Given the description of an element on the screen output the (x, y) to click on. 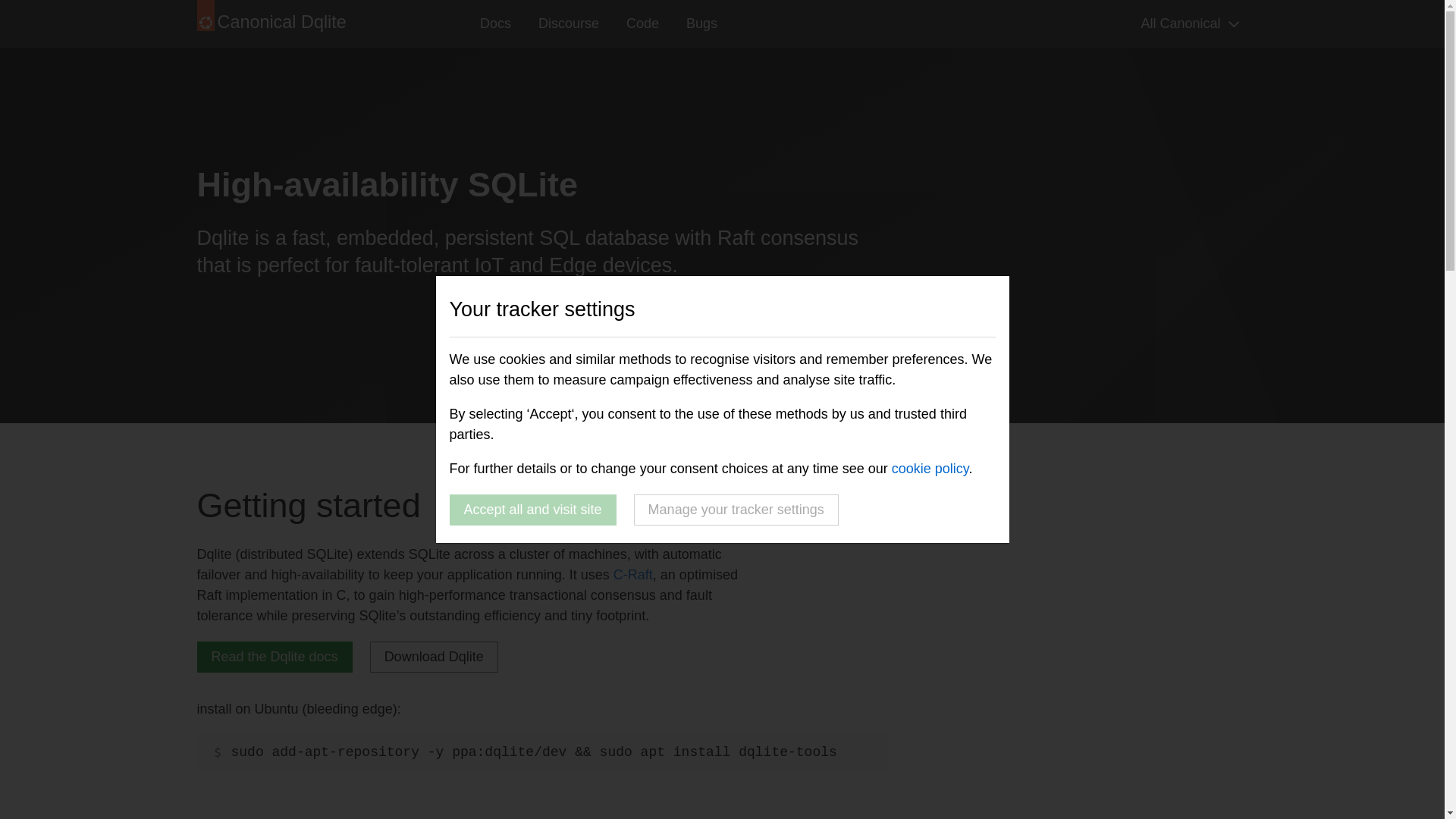
Bugs (701, 23)
Code (642, 23)
Canonical Dqlite (285, 23)
Docs (494, 23)
Discourse (568, 23)
